Given the description of an element on the screen output the (x, y) to click on. 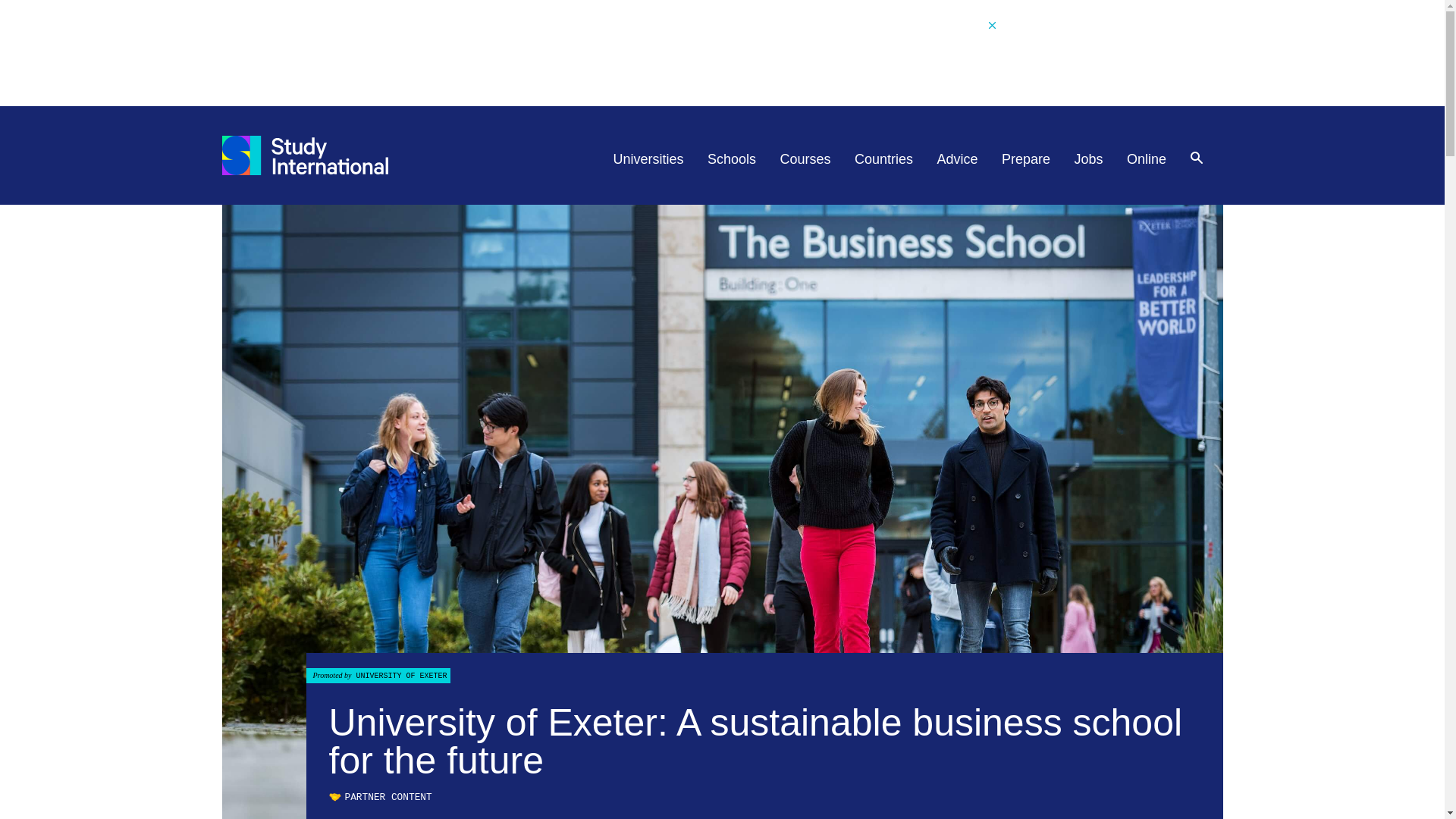
Courses (805, 159)
Prepare (1025, 159)
Advice (957, 159)
Jobs (1088, 159)
Universities (648, 159)
Countries (883, 159)
Schools (731, 159)
3rd party ad content (721, 52)
Online (1146, 159)
